Given the description of an element on the screen output the (x, y) to click on. 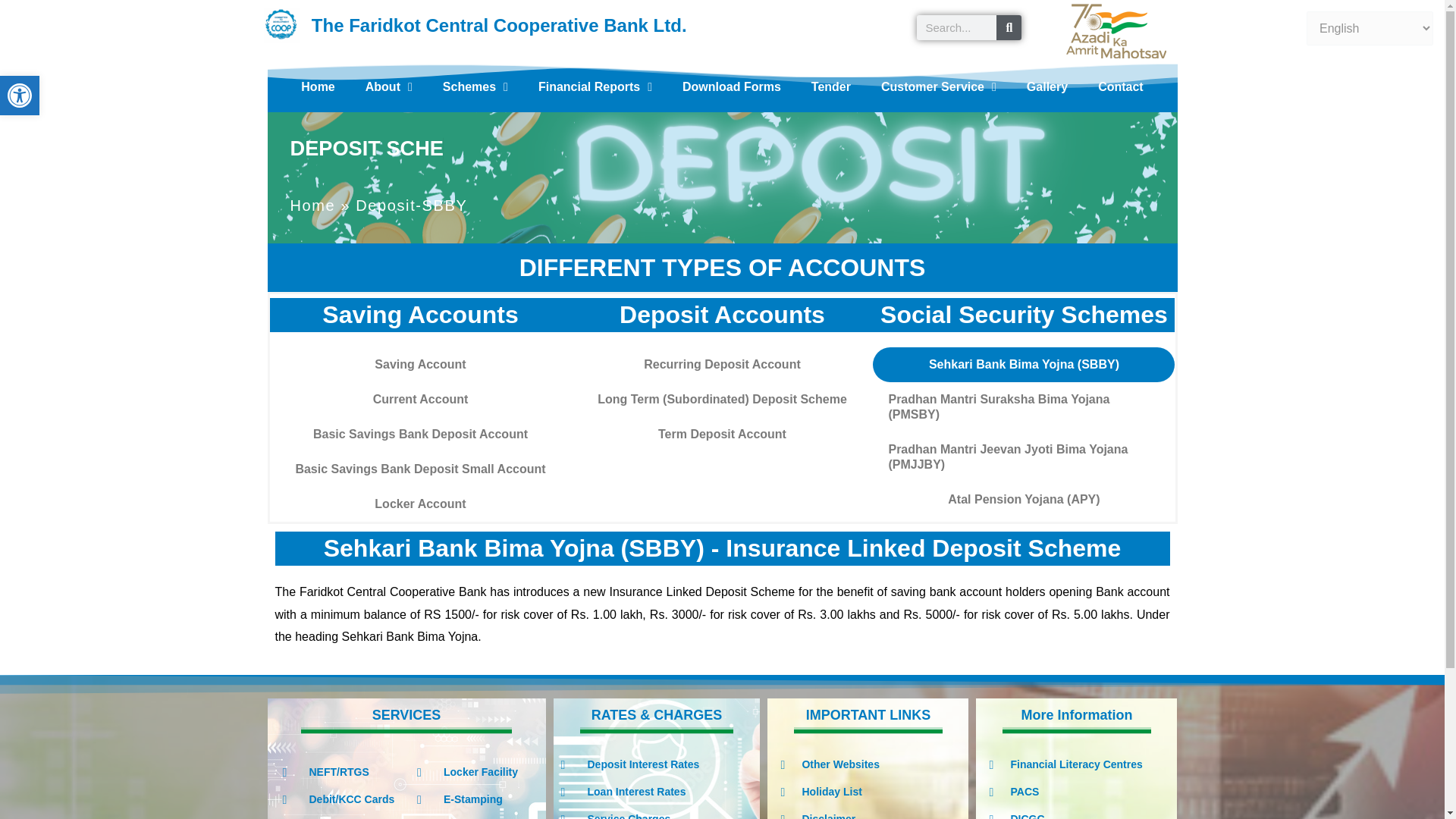
Home (19, 95)
About (317, 86)
Download Forms (389, 86)
Accessibility Tools (731, 86)
Tender (19, 95)
Financial Reports (831, 86)
Customer Service (594, 86)
Accessibility Tools (938, 86)
Contact (19, 95)
Gallery (1120, 86)
Schemes (1047, 86)
